Given the description of an element on the screen output the (x, y) to click on. 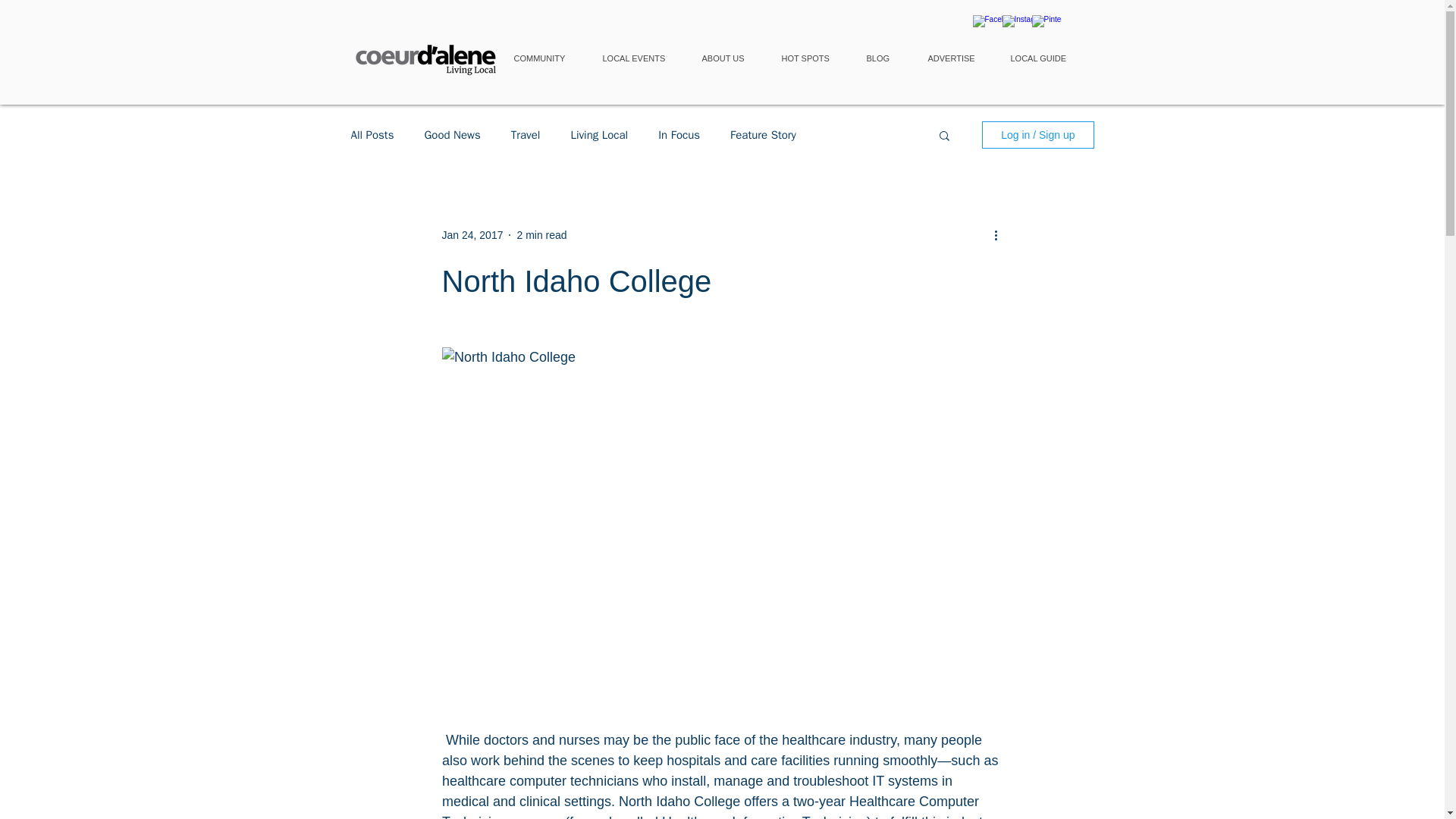
Jan 24, 2017 (471, 234)
Living Local (598, 134)
Good News (451, 134)
ADVERTISE (956, 58)
All Posts (371, 134)
LOCAL EVENTS (638, 58)
ABOUT US (730, 58)
Coeur d'Alene Living Local (423, 55)
In Focus (679, 134)
2 min read (541, 234)
LOCAL GUIDE (1043, 58)
Travel (525, 134)
Feature Story (763, 134)
HOT SPOTS (810, 58)
BLOG (884, 58)
